Given the description of an element on the screen output the (x, y) to click on. 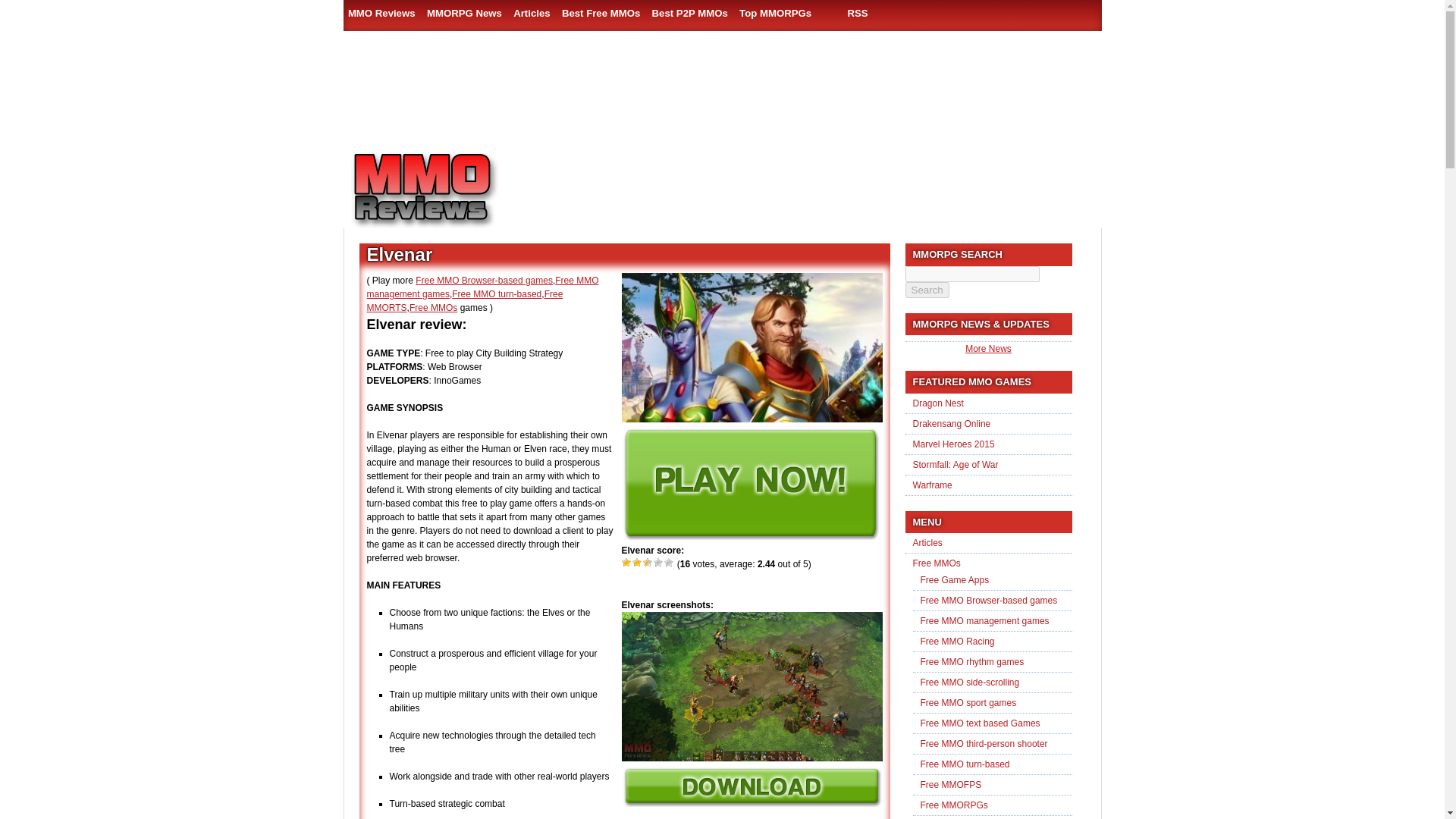
MMO Reviews (381, 12)
Top MMORPGs (774, 12)
Articles (531, 12)
Free MMO Browser-based games (483, 280)
Free MMO management games (482, 287)
5 Stars (669, 562)
Free MMOs (433, 307)
Free MMO turn-based (496, 294)
4 Stars (658, 562)
MMOReviews frontpage (445, 190)
1 Star (626, 562)
Best Free MMOs (600, 12)
Free MMORTS (464, 300)
Elvenar download (751, 803)
More News (988, 348)
